Given the description of an element on the screen output the (x, y) to click on. 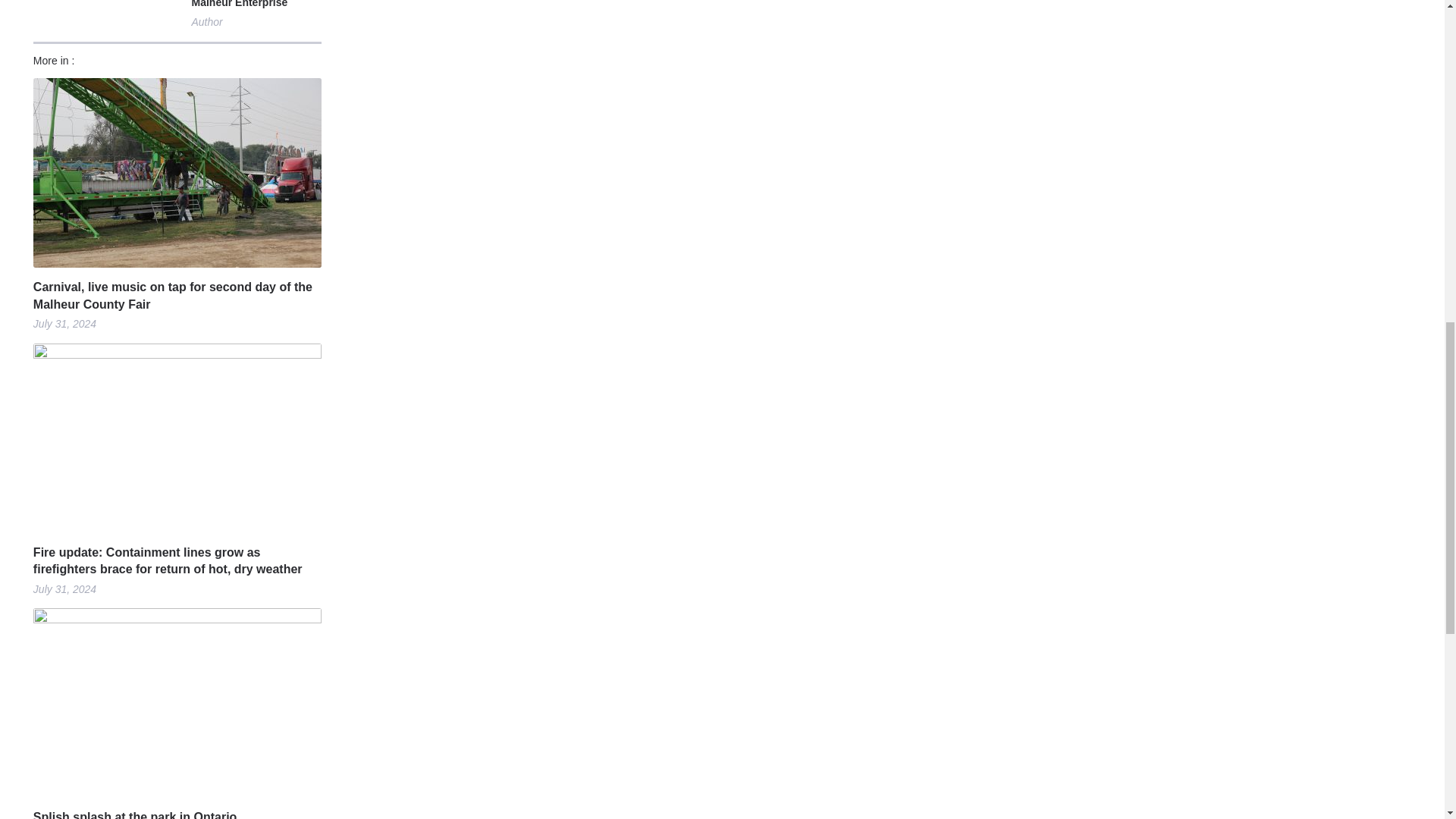
Posts by Malheur Enterprise (238, 6)
Malheur Enterprise (238, 6)
Permalink to Splish splash at the park in Ontario (177, 814)
Permalink to Splish splash at the park in Ontario (177, 702)
Splish splash at the park in Ontario (177, 814)
